Given the description of an element on the screen output the (x, y) to click on. 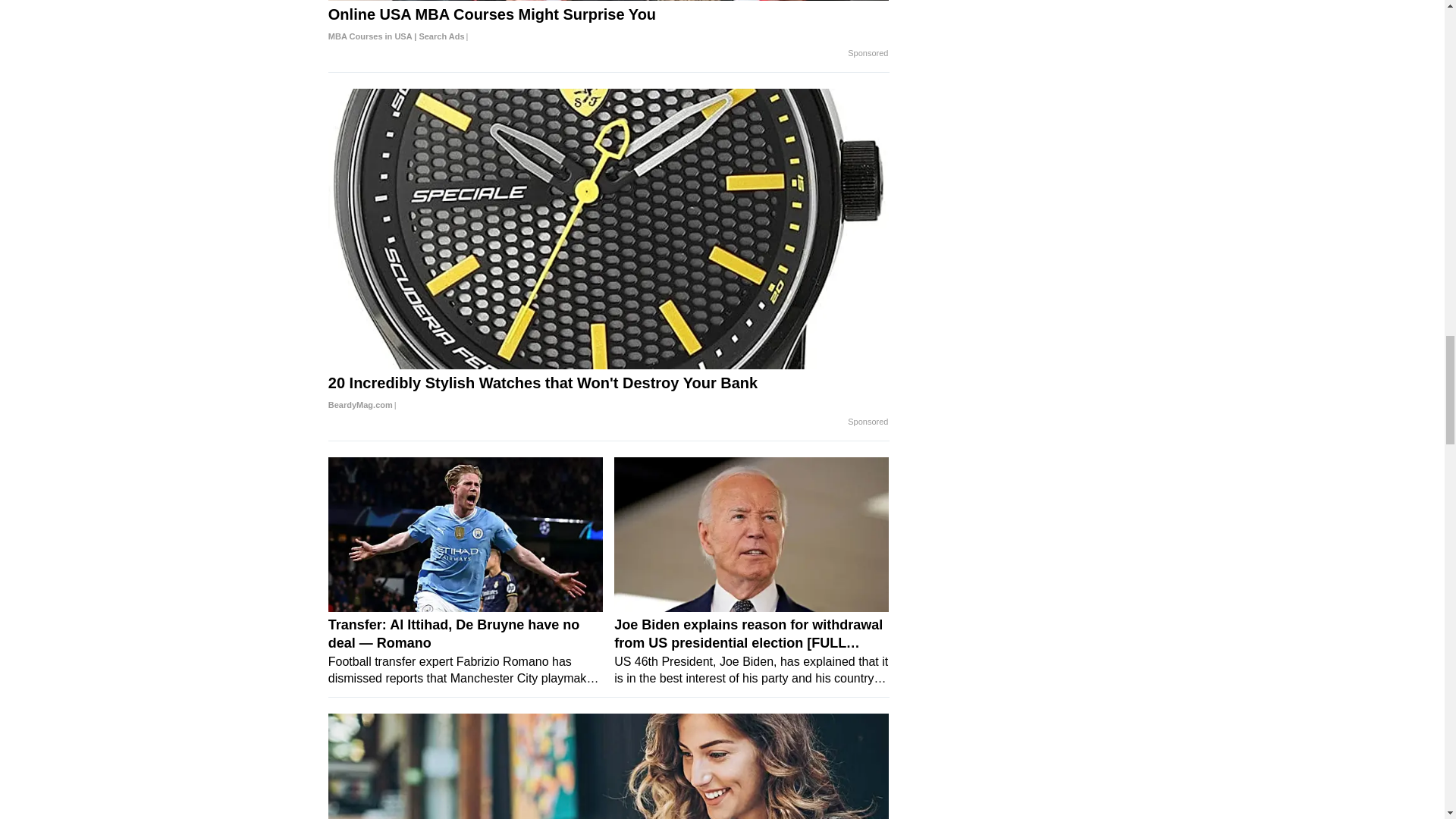
Sponsored (867, 53)
Sponsored (867, 421)
20 Incredibly Stylish Watches that Won't Destroy Your Bank (609, 394)
Online USA MBA Courses Might Surprise You (609, 25)
